Given the description of an element on the screen output the (x, y) to click on. 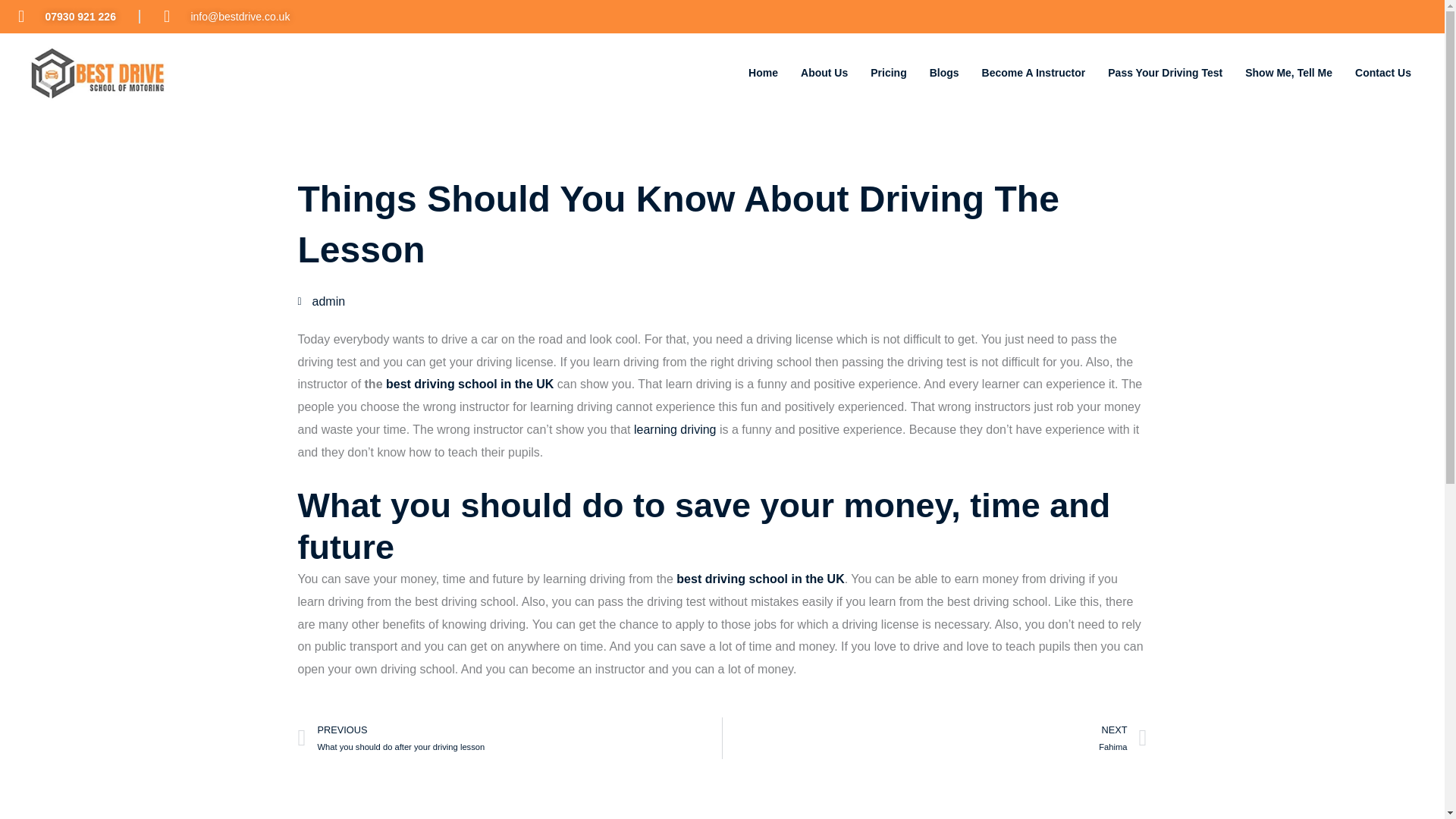
Blogs (944, 72)
Show Me, Tell Me (1288, 72)
Contact Us (934, 738)
Home (1382, 72)
Become A Instructor (762, 72)
learning driving (1034, 72)
About Us (673, 429)
admin (824, 72)
best driving school in the UK (321, 301)
